Given the description of an element on the screen output the (x, y) to click on. 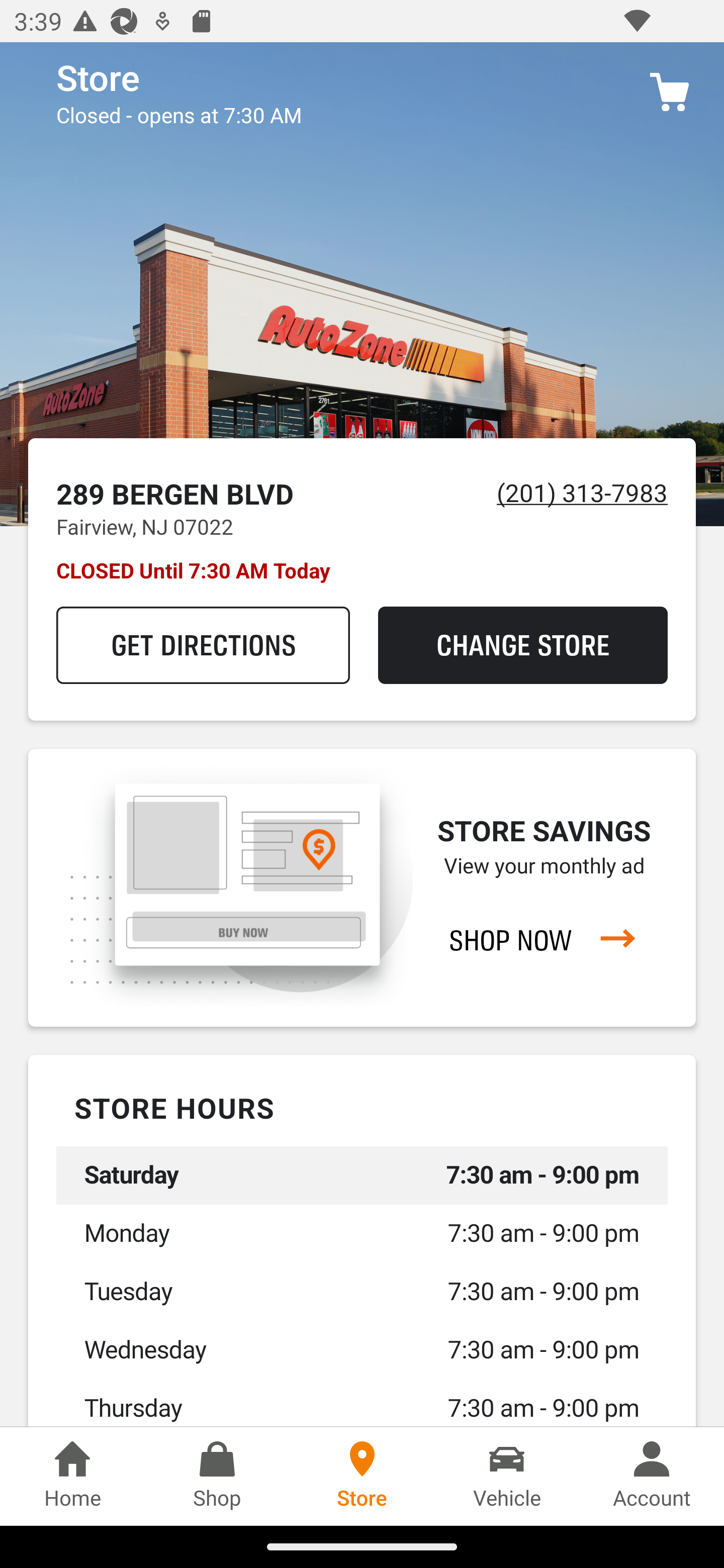
Get Directions GET DIRECTIONS (202, 644)
Change Selected Store CHANGE STORE (522, 644)
Home (72, 1475)
Shop (216, 1475)
Store (361, 1475)
Vehicle (506, 1475)
Account (651, 1475)
